Given the description of an element on the screen output the (x, y) to click on. 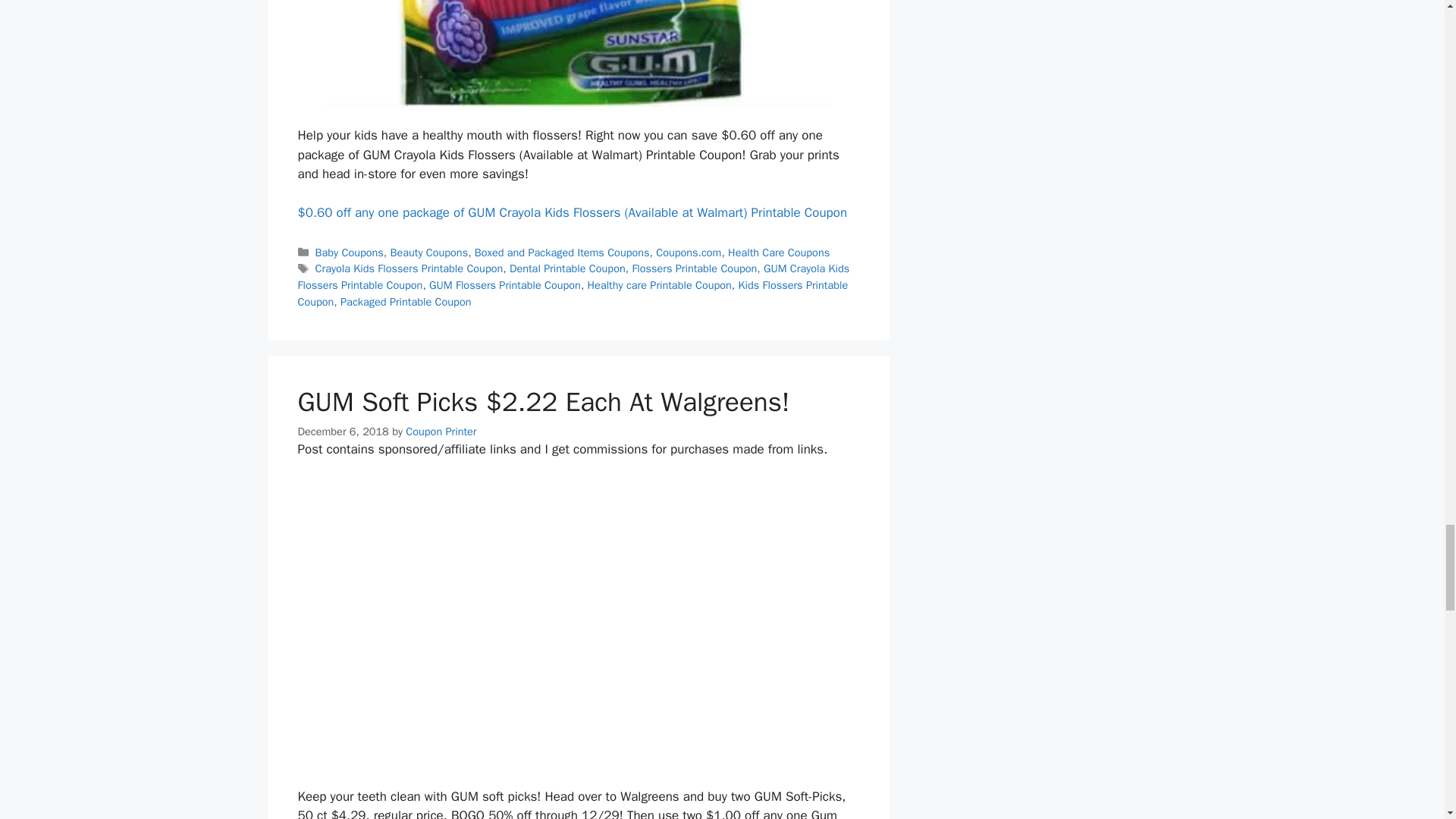
View all posts by Coupon Printer (441, 431)
